Given the description of an element on the screen output the (x, y) to click on. 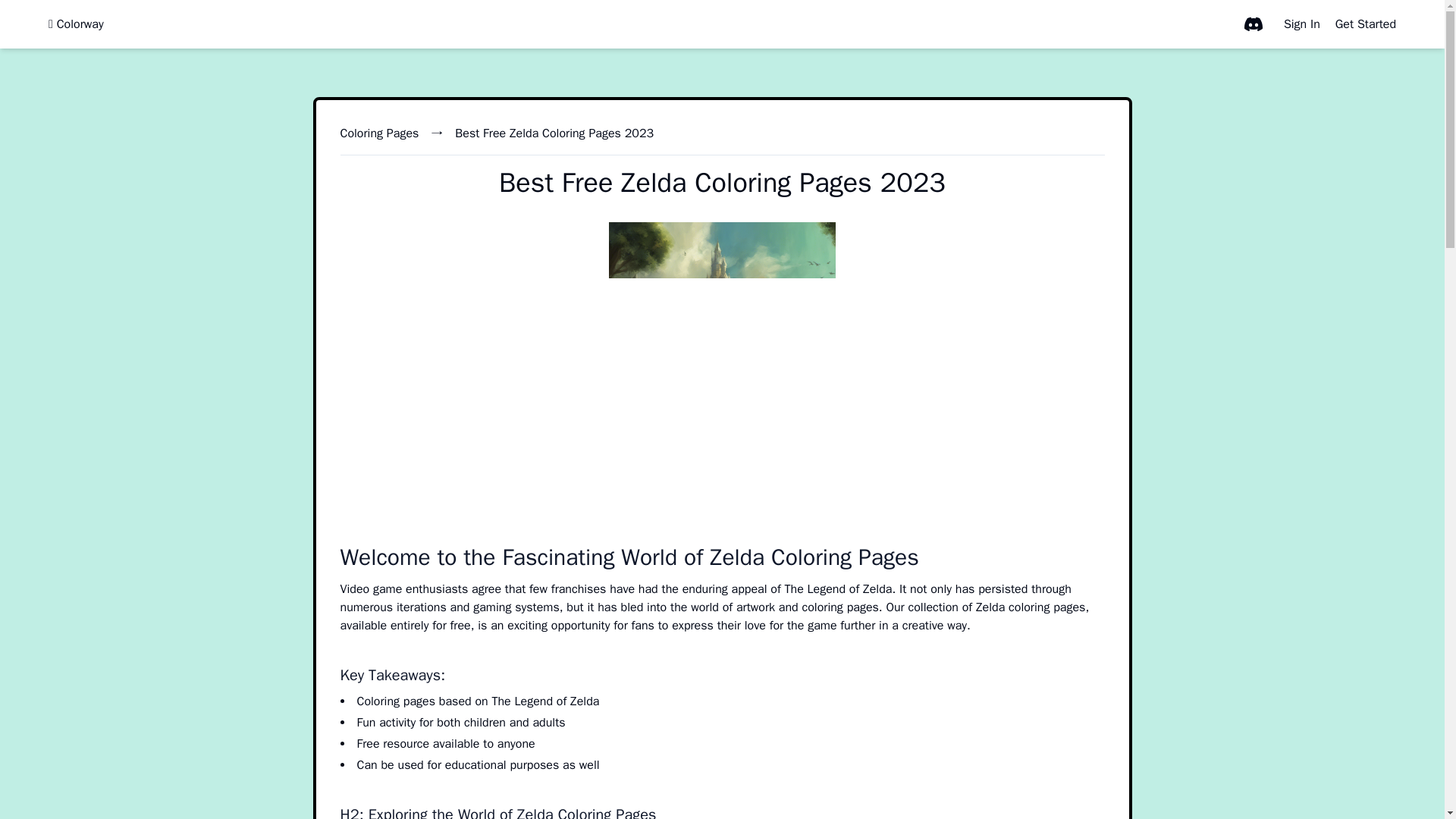
Coloring Pages (379, 133)
Get Started (1365, 23)
Sign In (1302, 23)
